Given the description of an element on the screen output the (x, y) to click on. 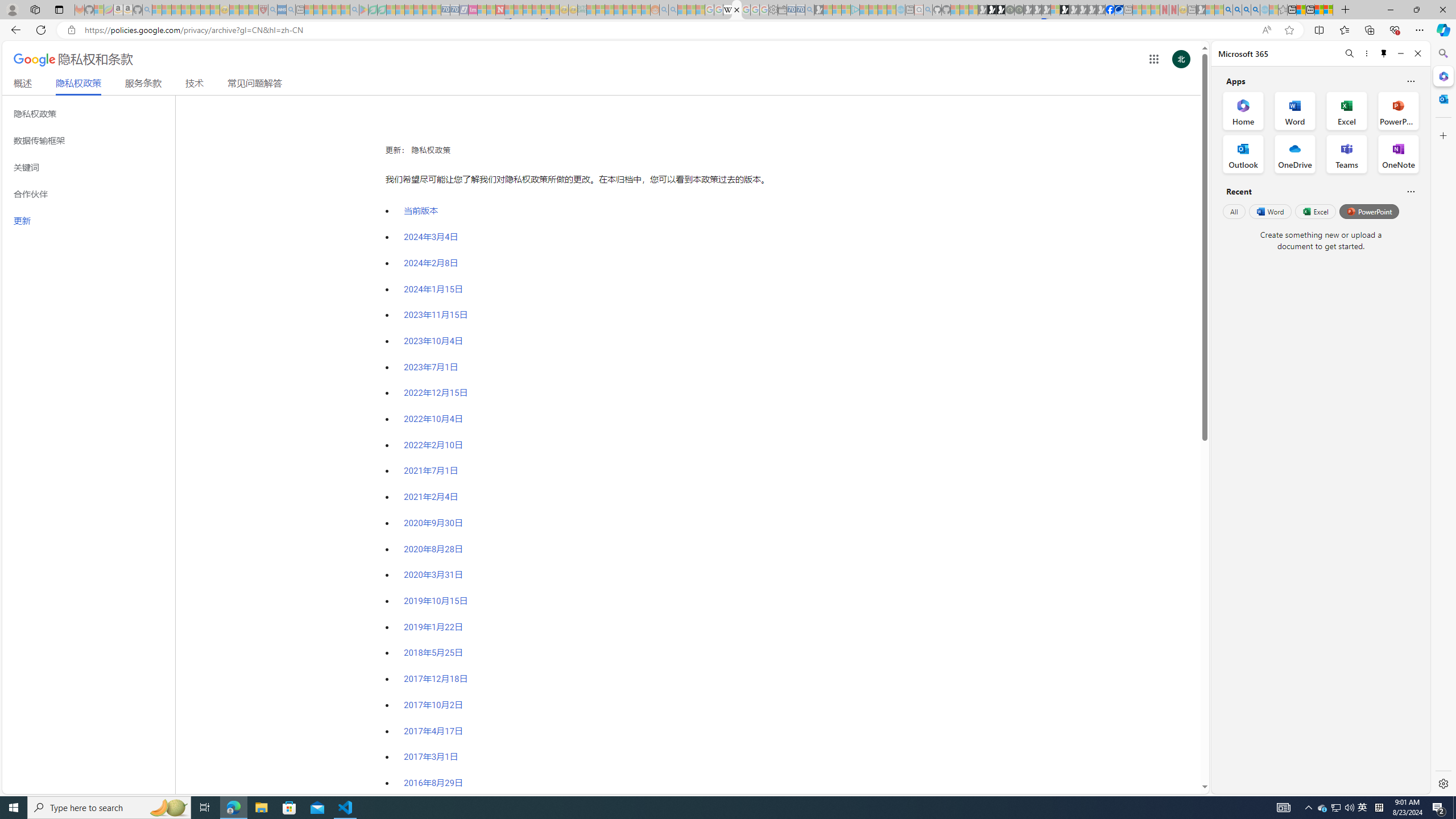
Microsoft Start - Sleeping (882, 9)
MSN - Sleeping (1200, 9)
AirNow.gov (1118, 9)
Wallet - Sleeping (782, 9)
Play Zoo Boom in your browser | Games from Microsoft Start (991, 9)
